Given the description of an element on the screen output the (x, y) to click on. 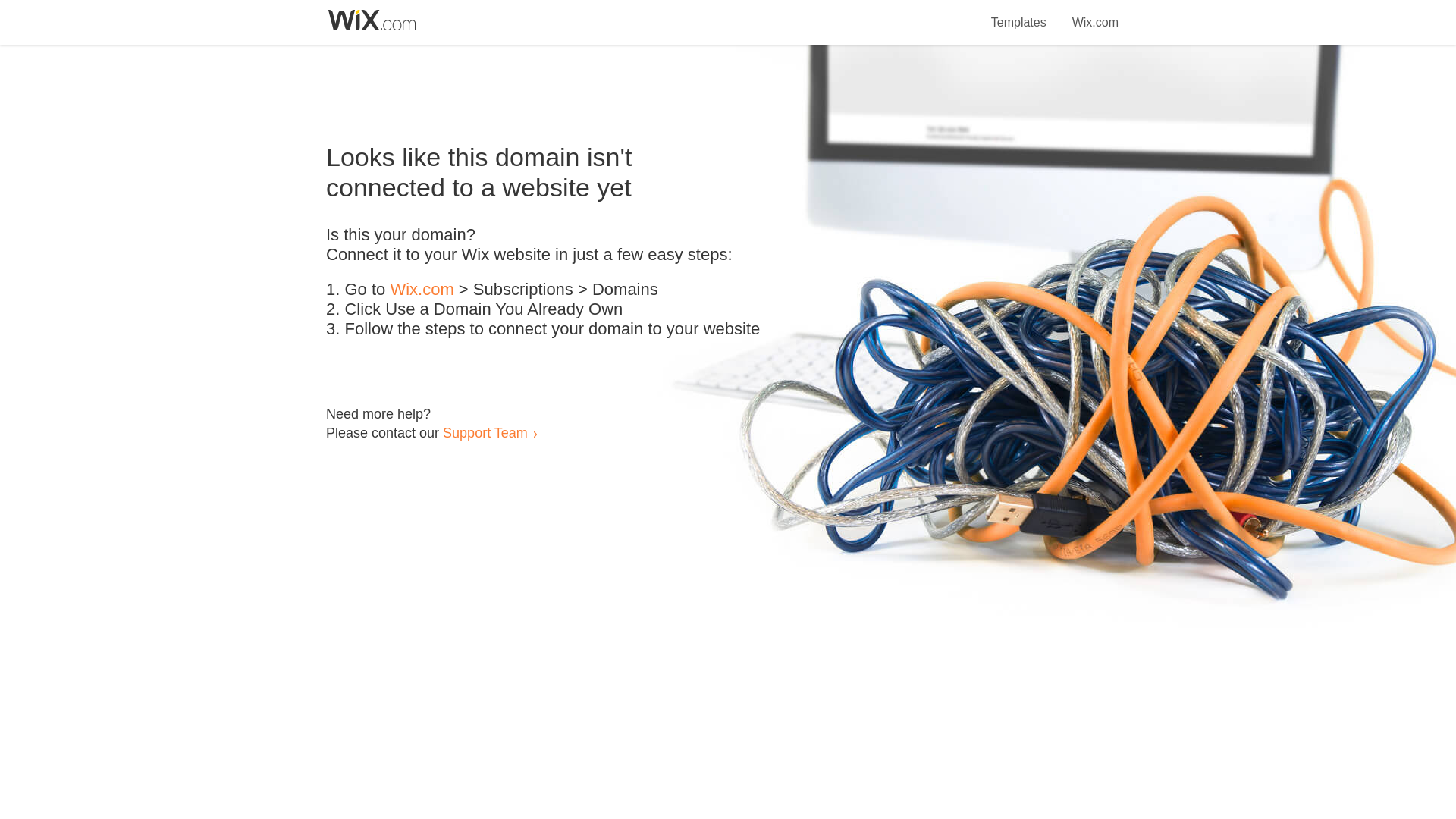
Templates (1018, 14)
Wix.com (421, 289)
Wix.com (1095, 14)
Support Team (484, 432)
